Given the description of an element on the screen output the (x, y) to click on. 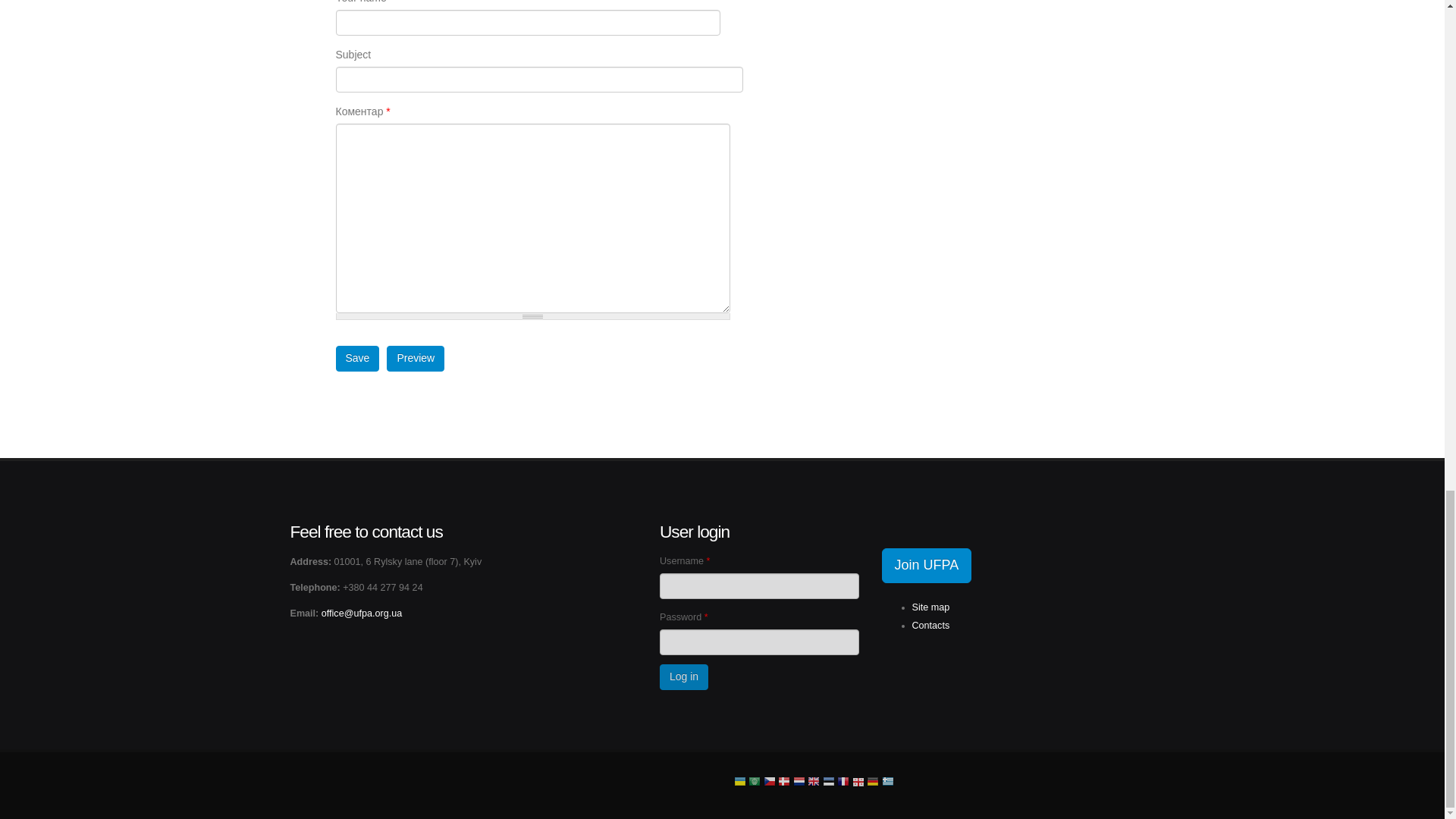
Log in (683, 677)
Join UFPA (925, 565)
Site map (930, 606)
Log in (683, 677)
Save (356, 358)
Save (356, 358)
Preview (415, 358)
Preview (415, 358)
